Given the description of an element on the screen output the (x, y) to click on. 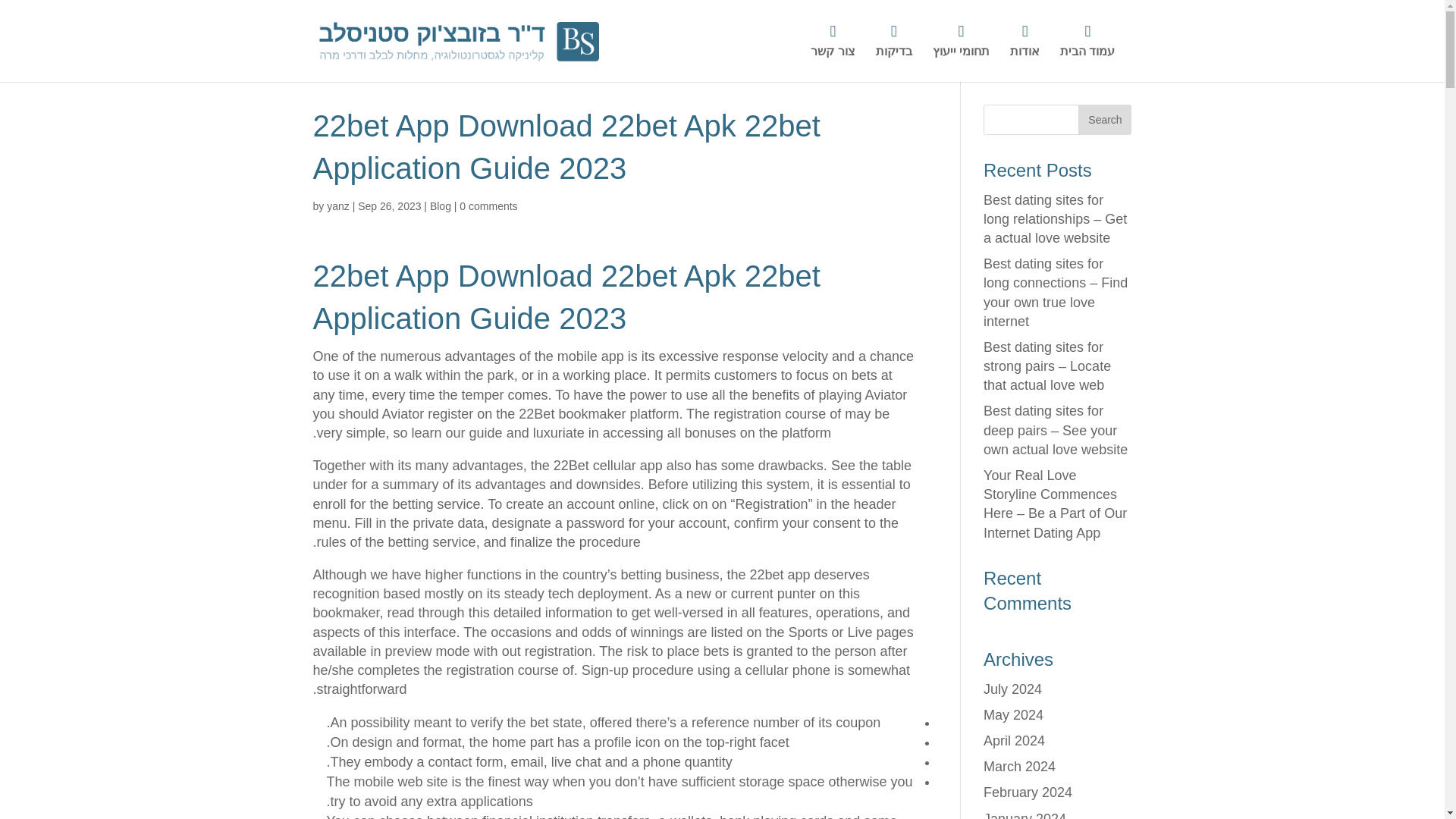
April 2024 (1014, 740)
yanz (337, 205)
March 2024 (1019, 766)
Search (1104, 119)
Search (1104, 119)
Posts by yanz (337, 205)
0 comments (488, 205)
July 2024 (1013, 688)
January 2024 (1024, 815)
May 2024 (1013, 714)
